Given the description of an element on the screen output the (x, y) to click on. 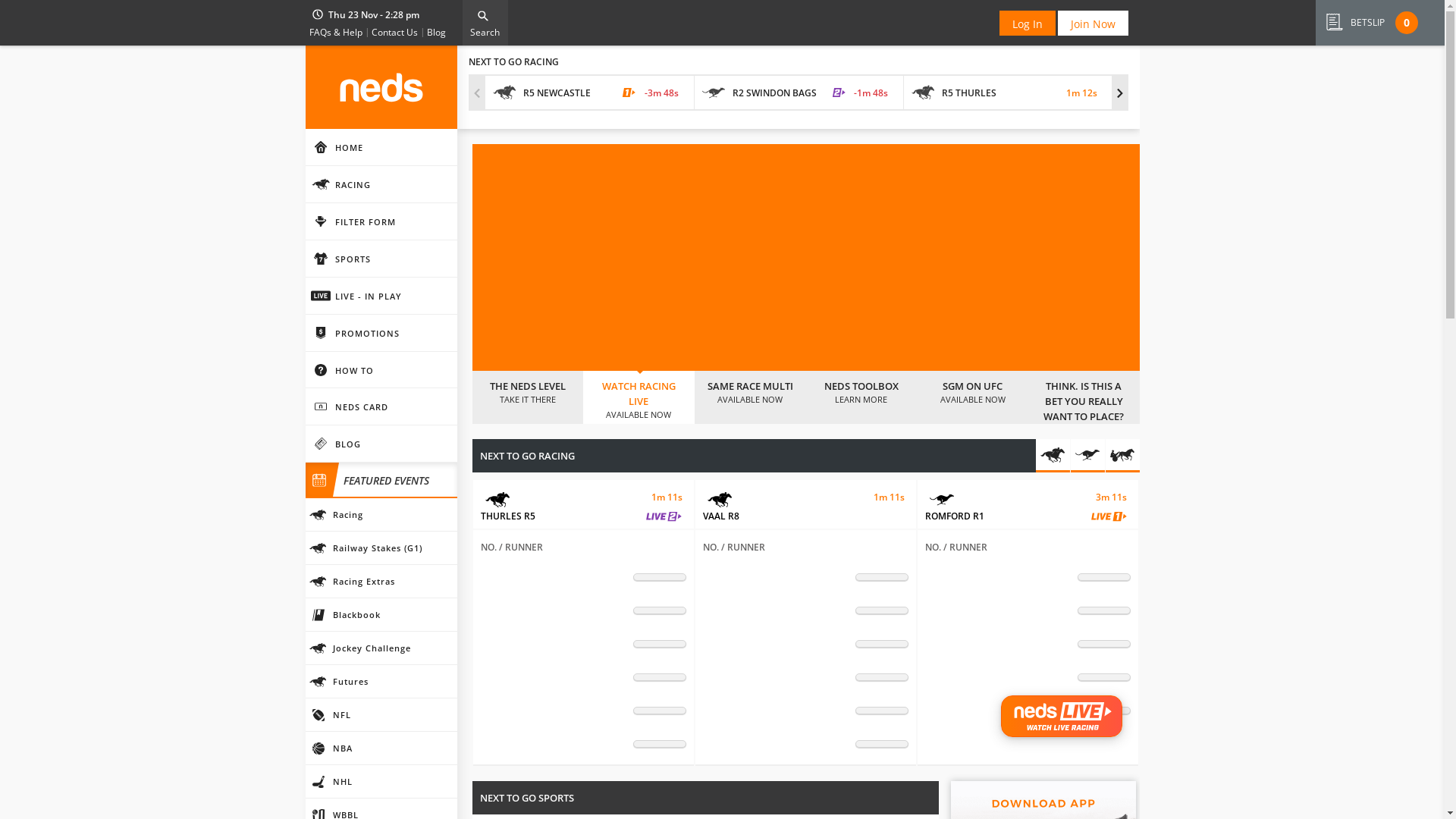
PROMOTIONS Element type: text (380, 332)
R5 NEWCASTLE
-3m 45s Element type: text (589, 92)
THURLES
R5
1m 14s Element type: text (583, 504)
SPORTS Element type: text (380, 258)
Join Now Element type: text (1092, 22)
R2 SWINDON BAGS
-1m 45s Element type: text (798, 92)
HOW TO Element type: text (380, 370)
FILTER FORM Element type: text (380, 221)
HOME Element type: text (380, 147)
Racing Extras Element type: text (380, 581)
R8 VAAL
1m 15s Element type: text (1217, 92)
Blog Element type: text (435, 33)
NBA Element type: text (380, 748)
BLOG Element type: text (380, 443)
NFL Element type: text (380, 714)
Racing Element type: text (380, 514)
Jockey Challenge Element type: text (380, 648)
Blackbook Element type: text (380, 614)
LIVE - IN PLAY Element type: text (380, 295)
NHL Element type: text (380, 781)
Railway Stakes (G1) Element type: text (380, 547)
RACING Element type: text (380, 184)
ROMFORD
R1
3m 13s Element type: text (1027, 504)
Contact Us Element type: text (394, 33)
R5 THURLES
1m 15s Element type: text (1007, 92)
Futures Element type: text (380, 681)
NEDS CARD Element type: text (380, 406)
Log In Element type: text (1027, 22)
Search Element type: text (485, 22)
VAAL
R8
1m 14s Element type: text (805, 504)
FAQs & Help Element type: text (335, 33)
